Given the description of an element on the screen output the (x, y) to click on. 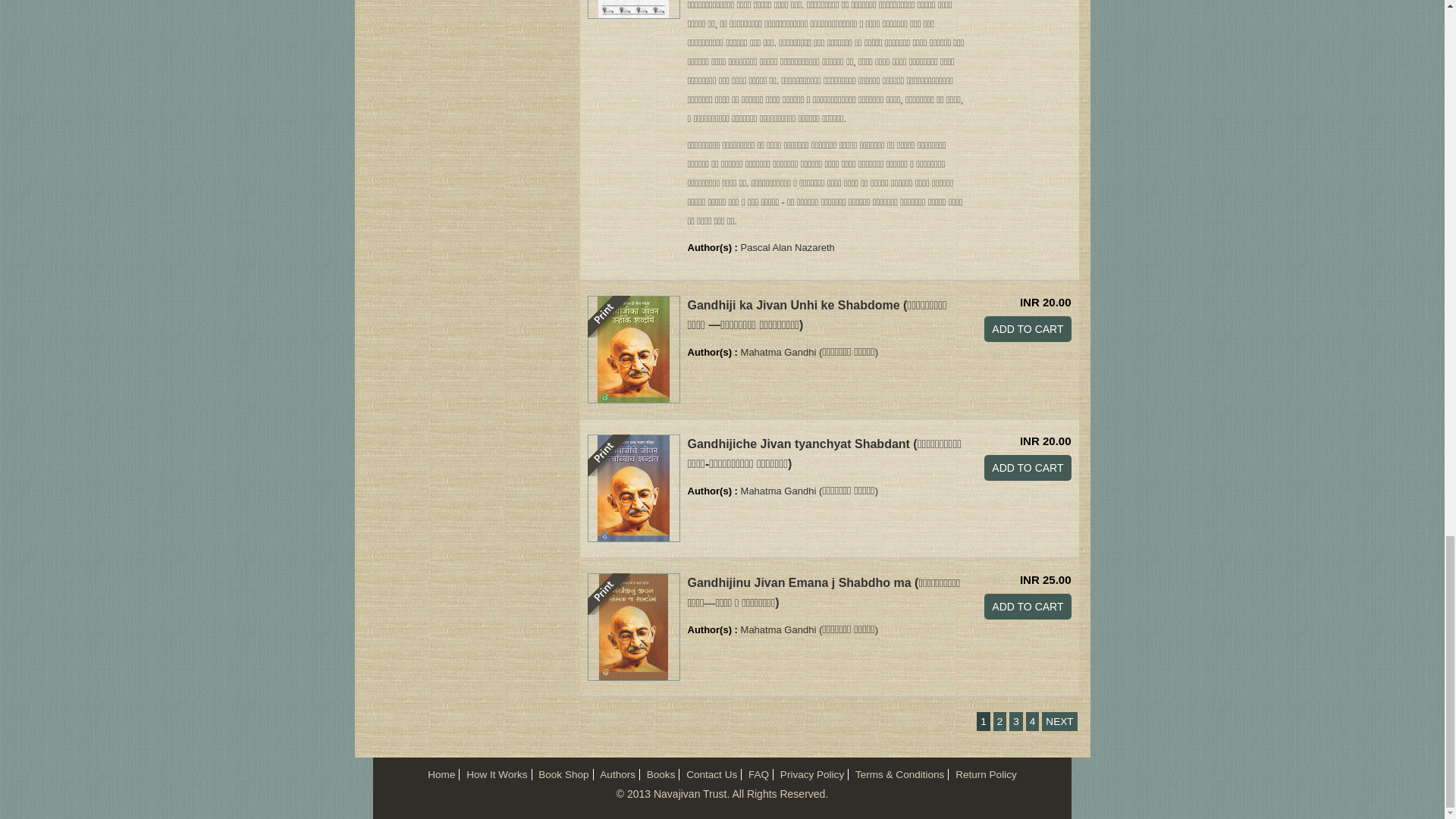
Pascal Alan Nazareth (787, 247)
